Given the description of an element on the screen output the (x, y) to click on. 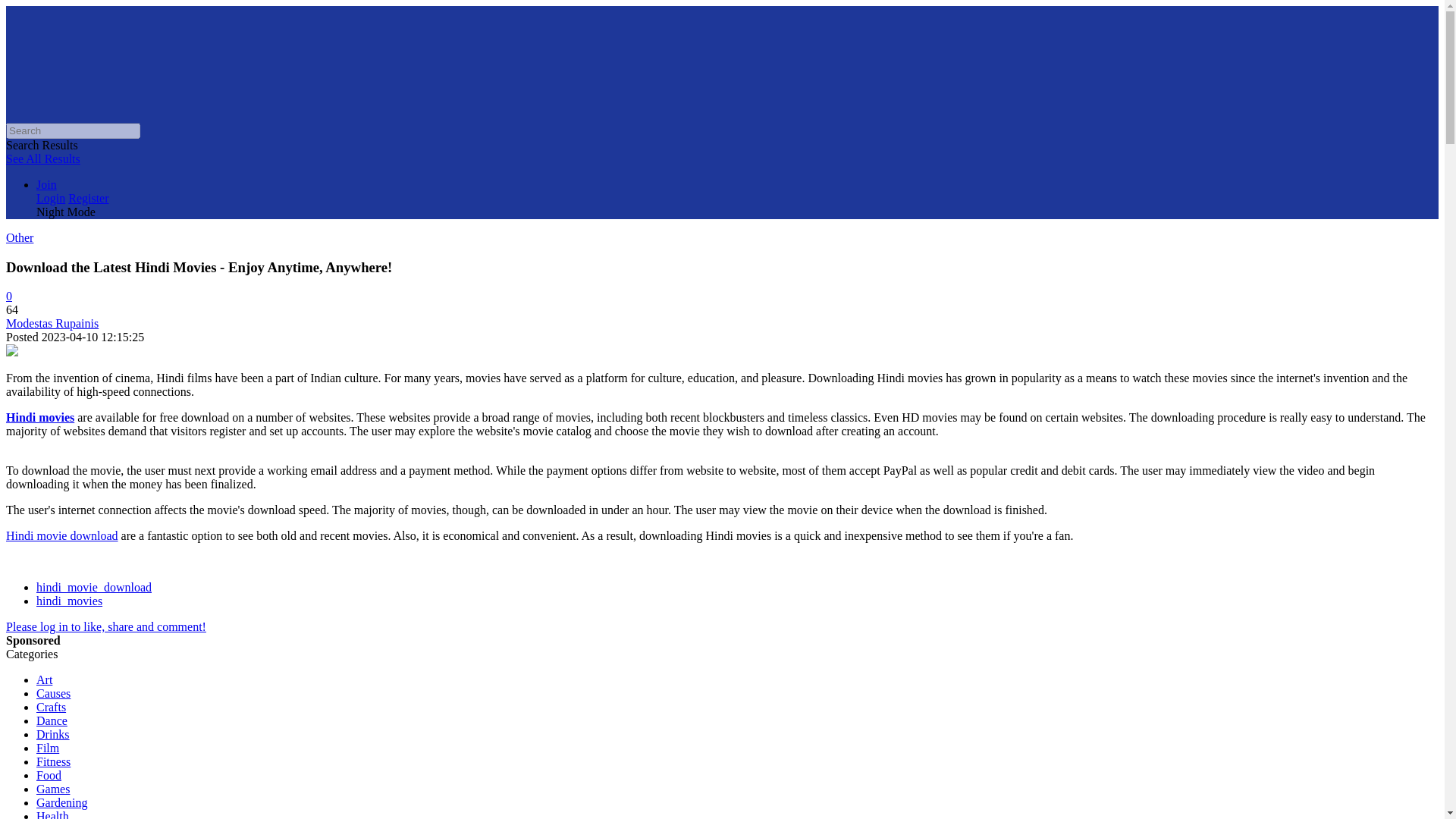
Login (50, 197)
Join (46, 184)
Modestas Rupainis (52, 323)
0 (8, 295)
Games (52, 788)
Gardening (61, 802)
Register (87, 197)
Crafts (50, 707)
Food (48, 775)
See All Results (42, 158)
Drinks (52, 734)
Causes (52, 693)
Hindi movies (39, 417)
Dance (51, 720)
Film (47, 748)
